Given the description of an element on the screen output the (x, y) to click on. 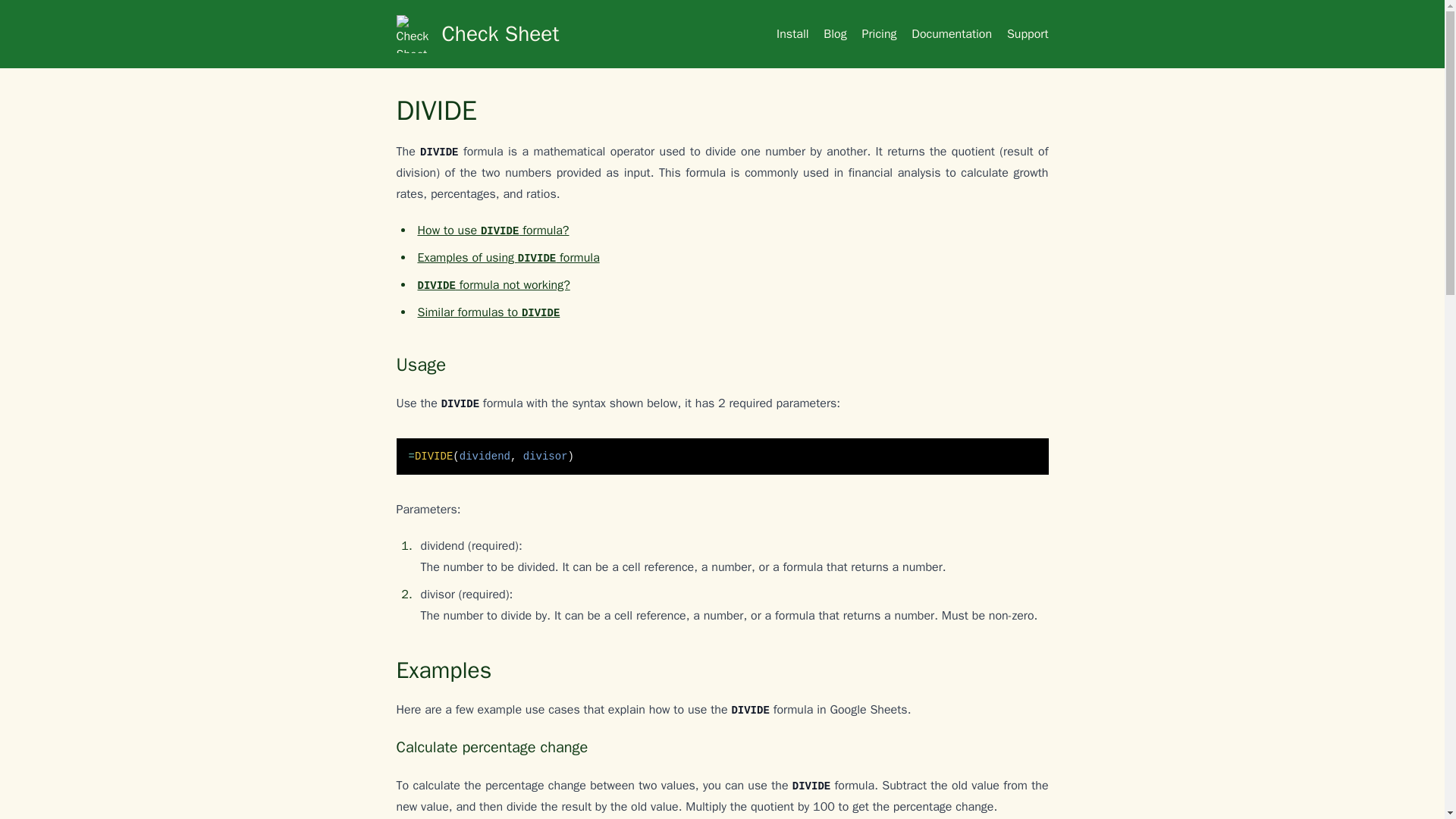
Install (792, 33)
Pricing (878, 33)
Blog (834, 33)
Check Sheet - Google Sheets Notification (529, 34)
Examples of using DIVIDE formula (507, 257)
Support (1027, 33)
How to use DIVIDE formula? (492, 230)
Check Sheet (529, 34)
Documentation (951, 33)
Similar formulas to DIVIDE (487, 312)
